Given the description of an element on the screen output the (x, y) to click on. 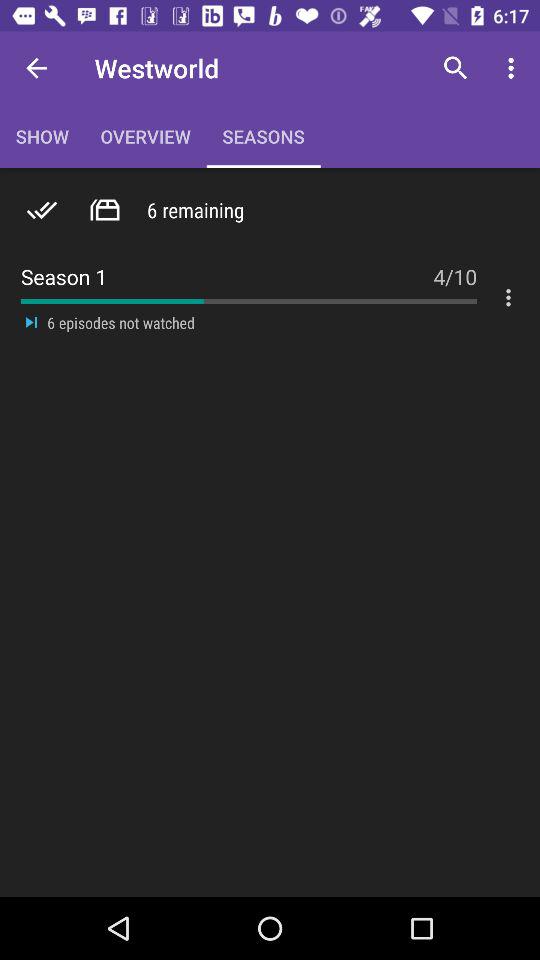
open the icon above the season 1 (455, 67)
